Given the description of an element on the screen output the (x, y) to click on. 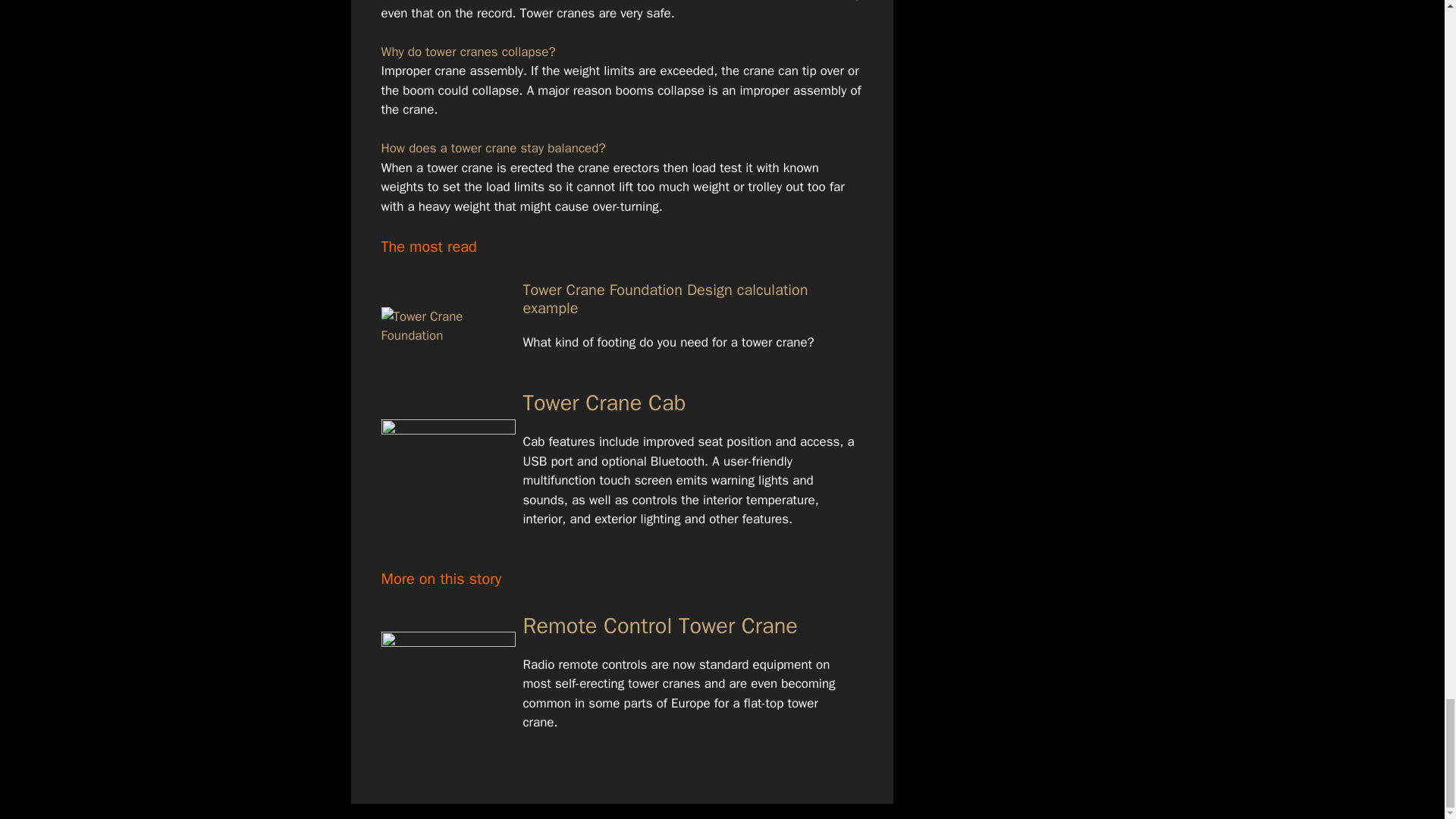
Tower Crane Foundation Design calculation example (665, 298)
Remote Control Tower Crane (659, 625)
Tower Crane Cab (603, 402)
